Given the description of an element on the screen output the (x, y) to click on. 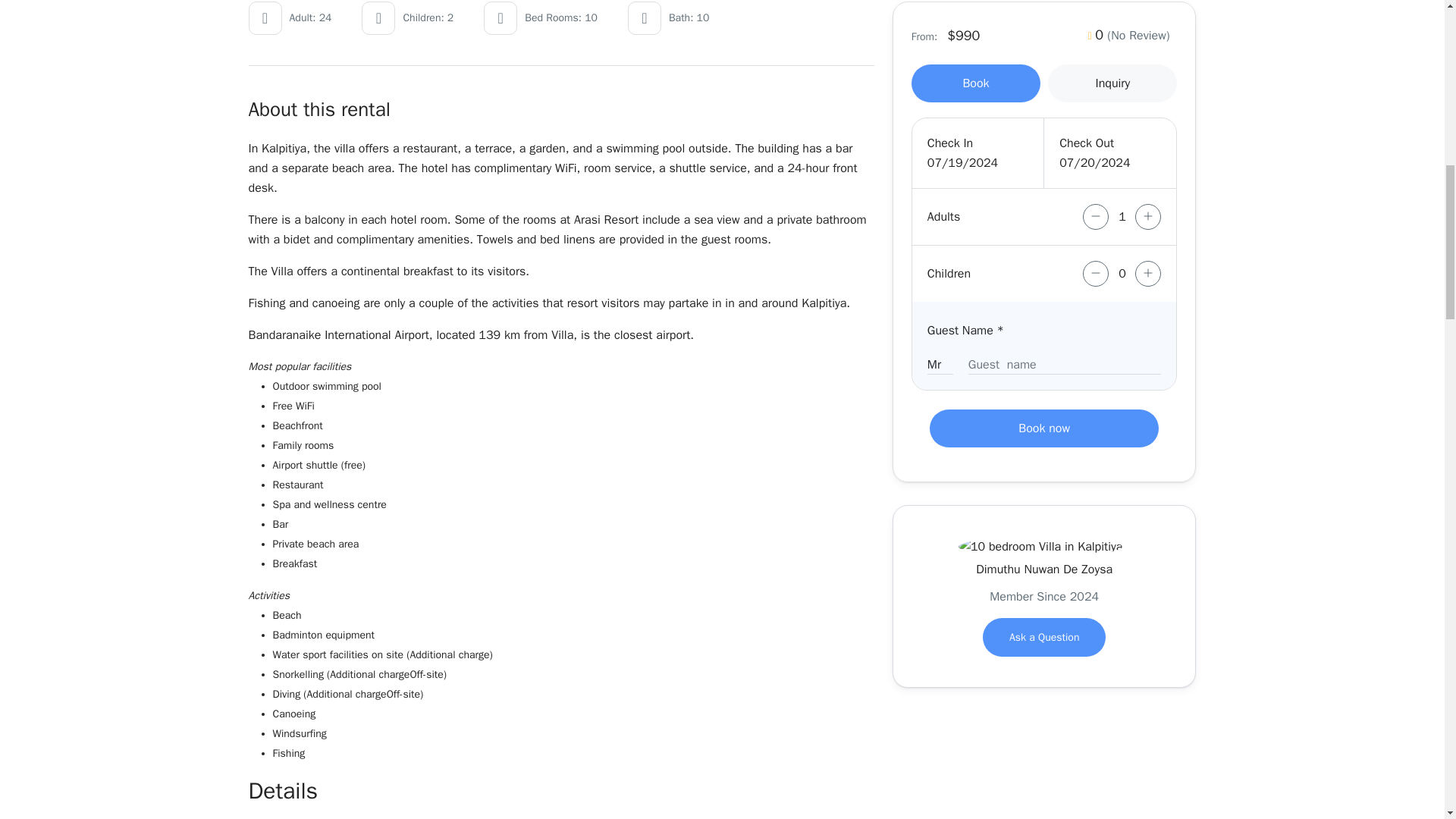
1 (1121, 216)
0 (1121, 273)
